Given the description of an element on the screen output the (x, y) to click on. 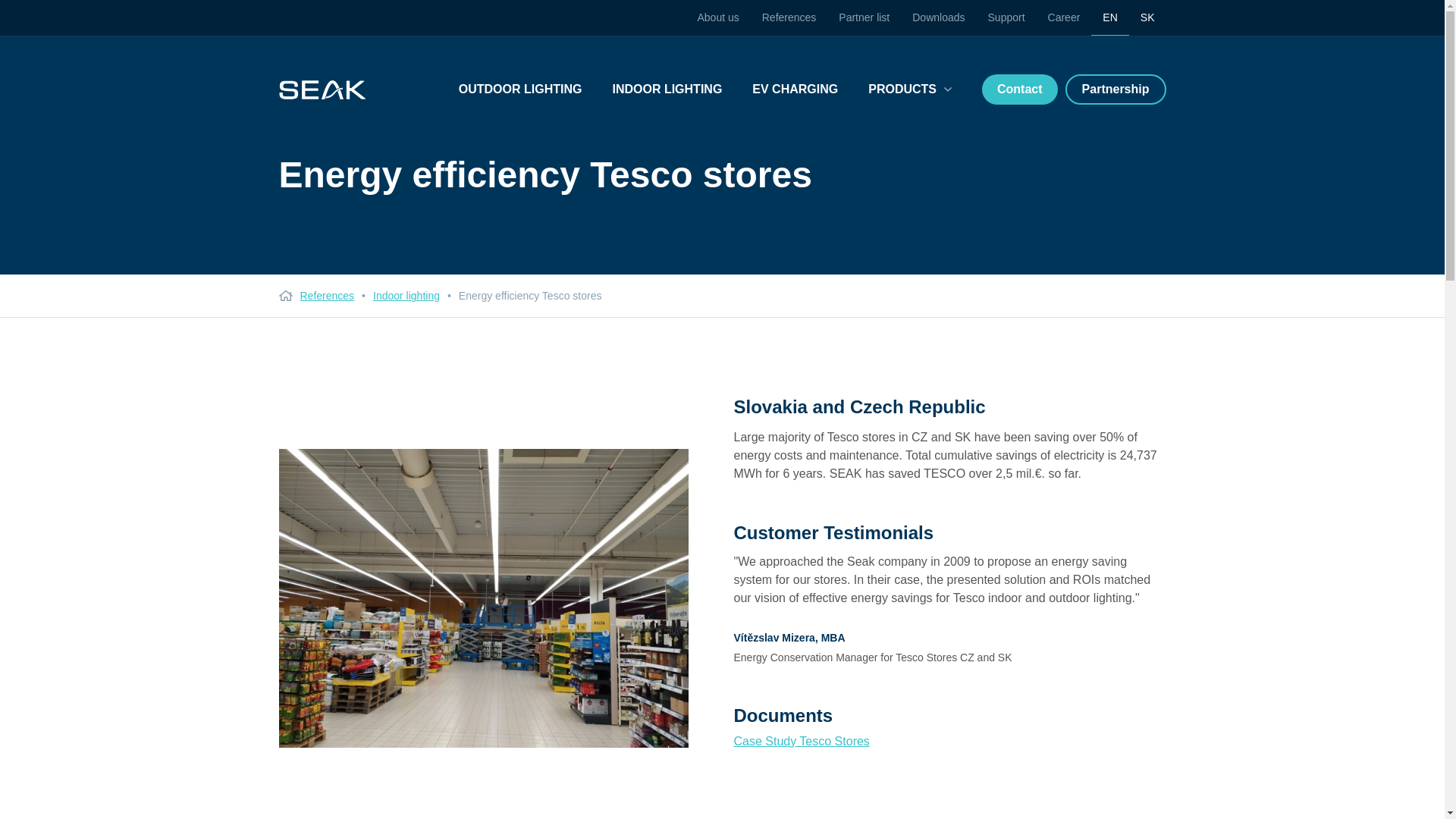
References (789, 17)
Career (1064, 17)
Indoor lighting (405, 295)
Support (1006, 17)
PRODUCTS (909, 89)
EN (1109, 18)
Contact (1019, 89)
References (327, 295)
Case Study Tesco Stores (801, 740)
EV CHARGING (795, 89)
